Given the description of an element on the screen output the (x, y) to click on. 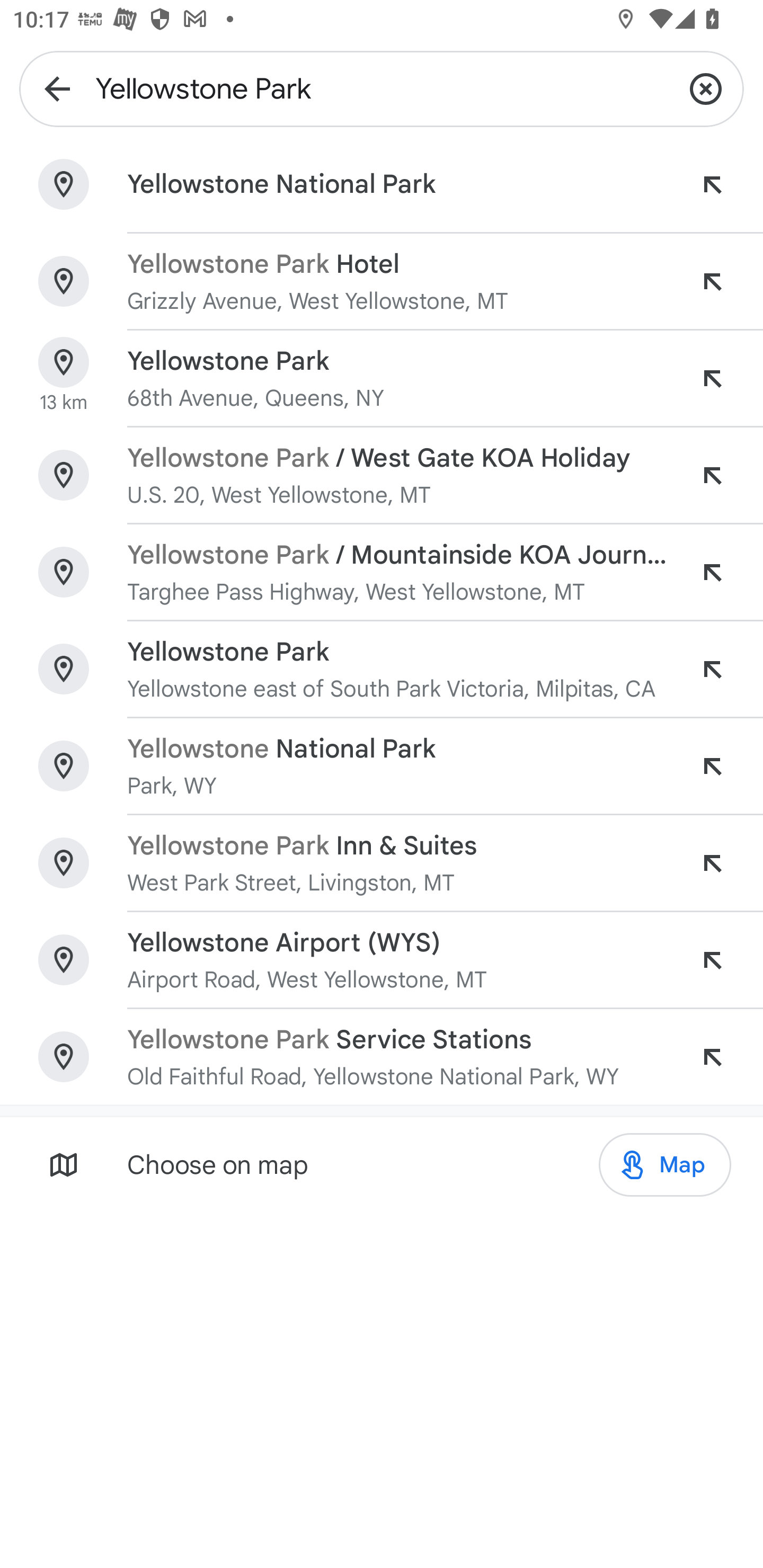
Navigate up (57, 88)
Yellowstone Park (381, 88)
Clear (705, 88)
Choose on map Map Map Map (381, 1164)
Map Map Map (664, 1164)
